Given the description of an element on the screen output the (x, y) to click on. 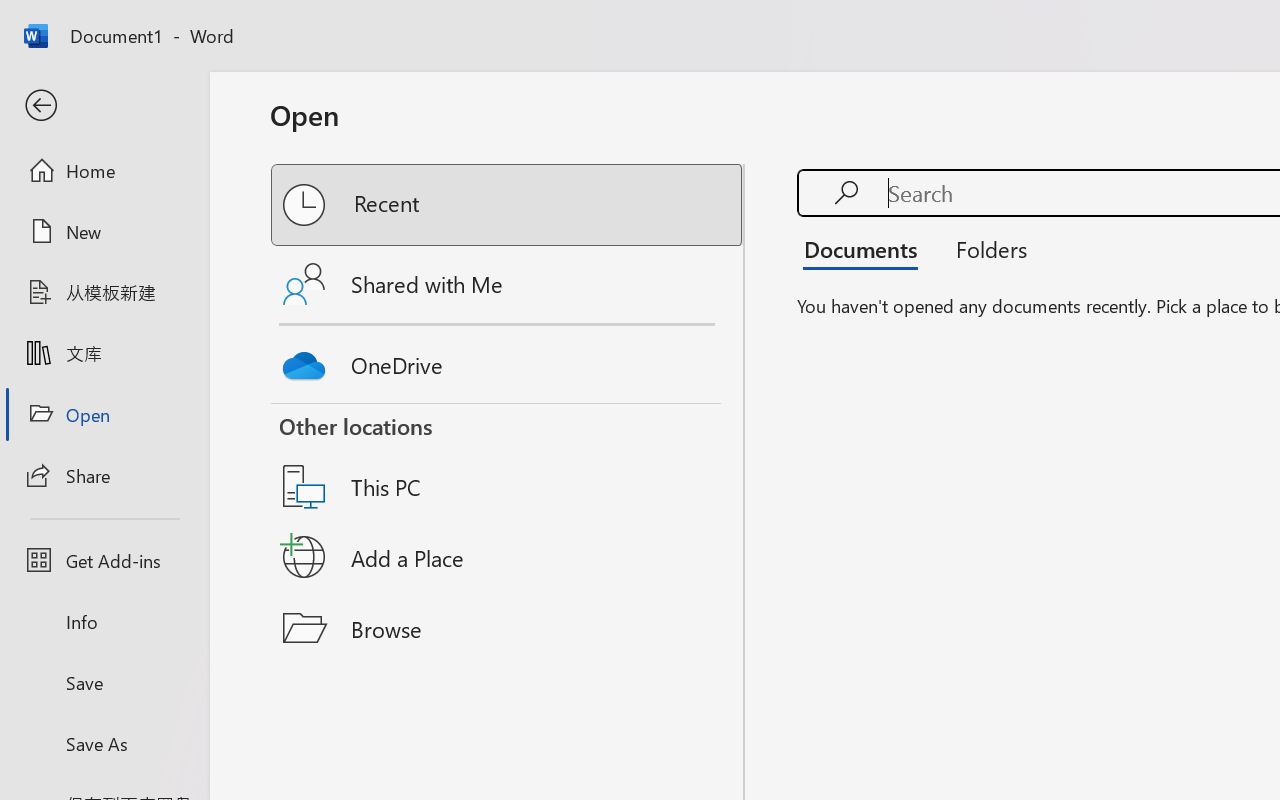
Add a Place (507, 557)
Back (104, 106)
New (104, 231)
